Given the description of an element on the screen output the (x, y) to click on. 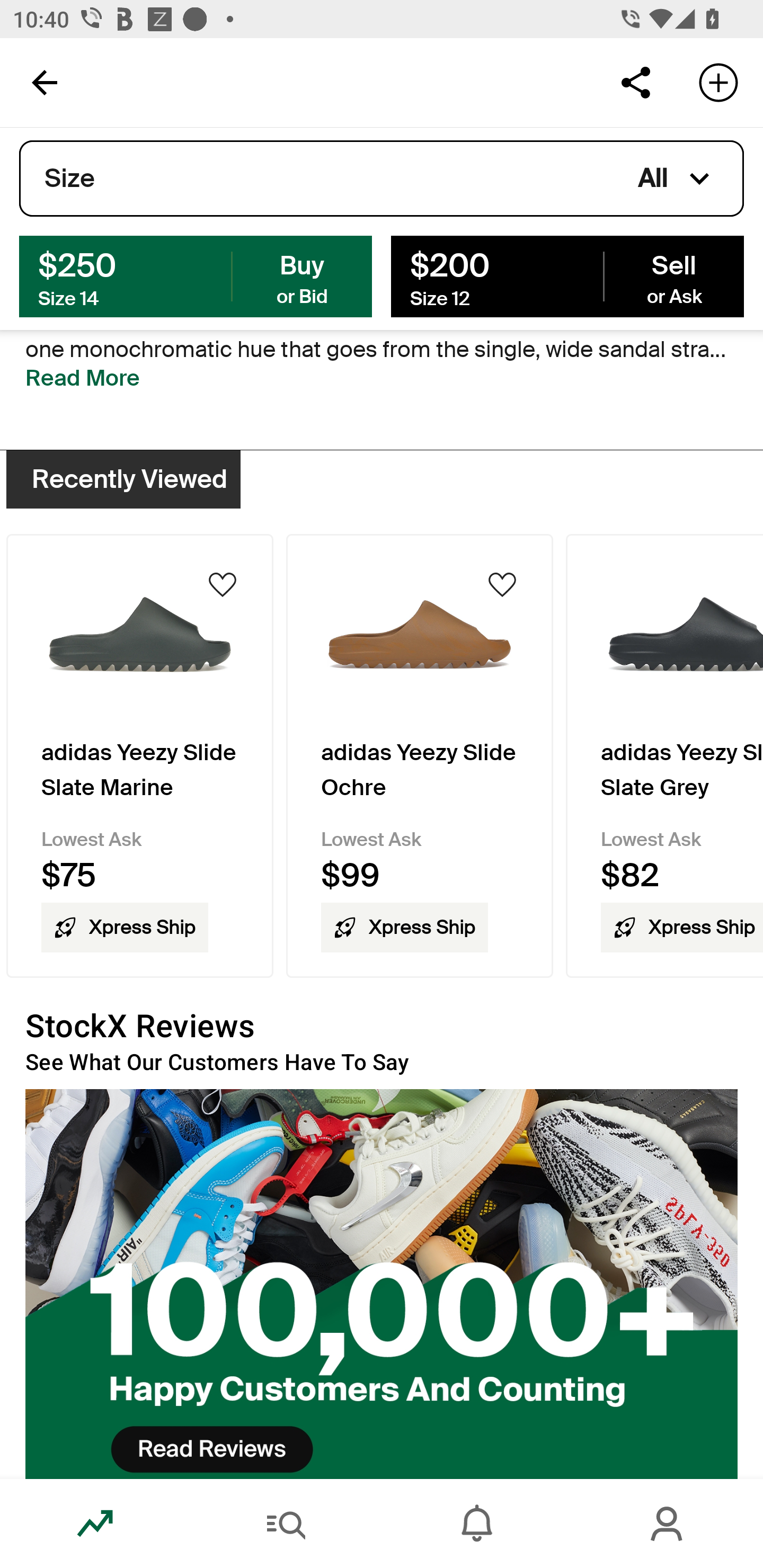
Share (635, 81)
Add (718, 81)
Size All (381, 178)
$250 Buy Size 14 or Bid (195, 275)
$200 Sell Size 12 or Ask (566, 275)
Read More (82, 377)
Search (285, 1523)
Inbox (476, 1523)
Account (667, 1523)
